Given the description of an element on the screen output the (x, y) to click on. 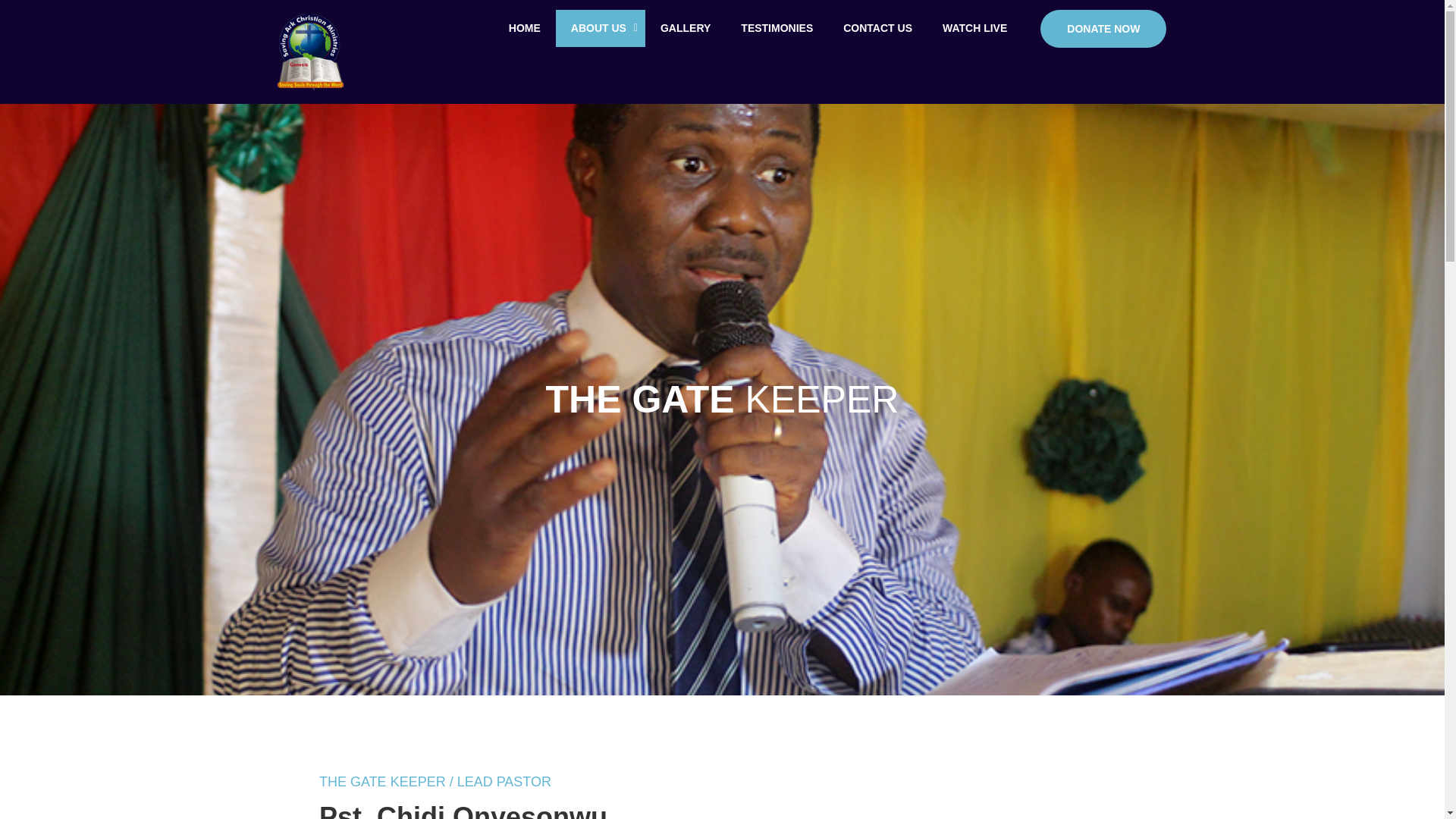
WATCH LIVE (974, 27)
DONATE NOW (1103, 27)
TESTIMONIES (776, 27)
HOME (757, 27)
GALLERY (524, 27)
CONTACT US (685, 27)
ABOUT US (877, 27)
